Given the description of an element on the screen output the (x, y) to click on. 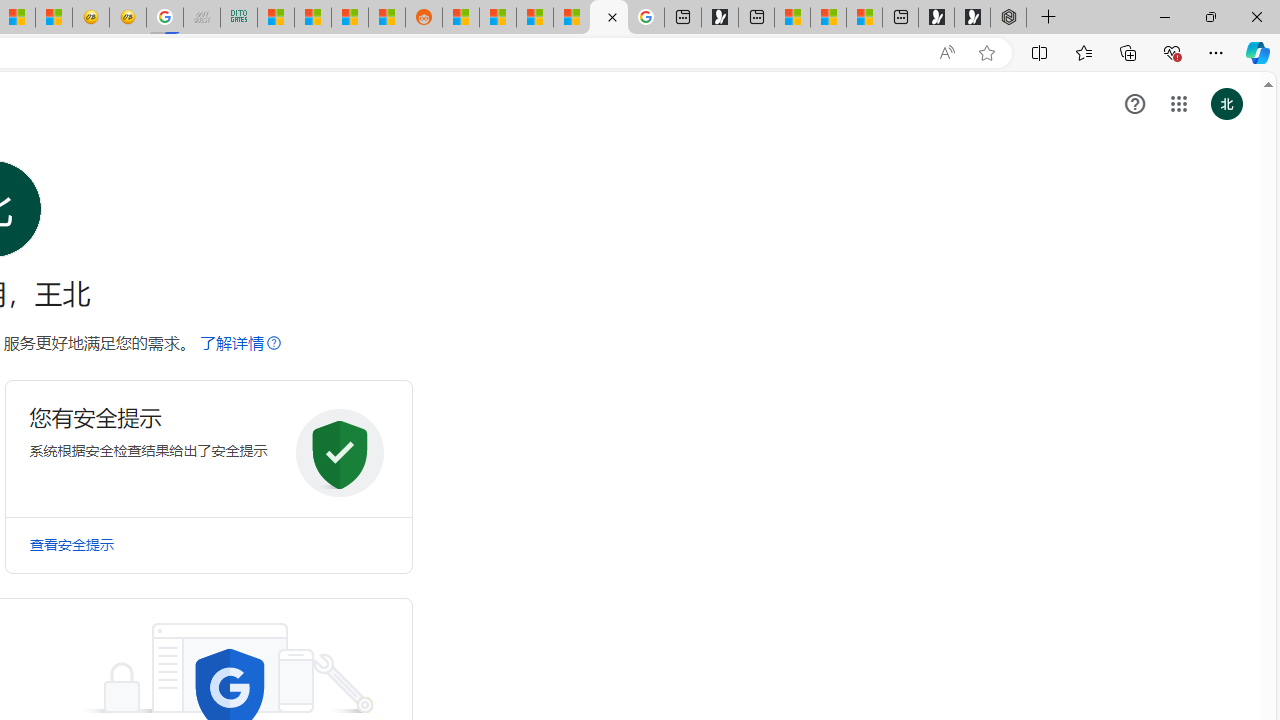
These 3 Stocks Pay You More Than 5% to Own Them (864, 17)
